Given the description of an element on the screen output the (x, y) to click on. 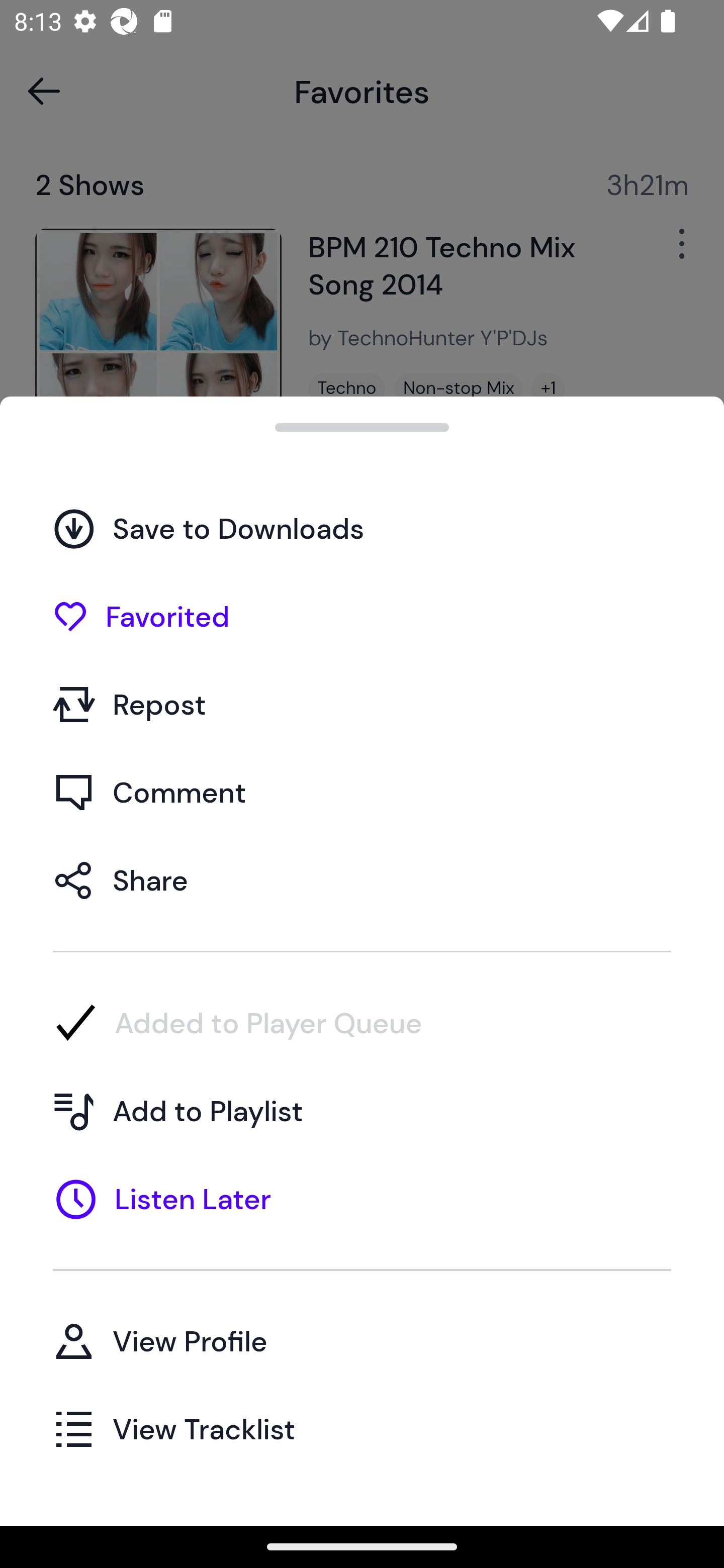
Save to Downloads (361, 528)
Favorited (361, 616)
Repost (361, 703)
Comment (361, 791)
Share (361, 879)
Add to Playlist (361, 1110)
Listen Later (361, 1199)
View Profile (361, 1340)
View Tracklist (361, 1428)
